Given the description of an element on the screen output the (x, y) to click on. 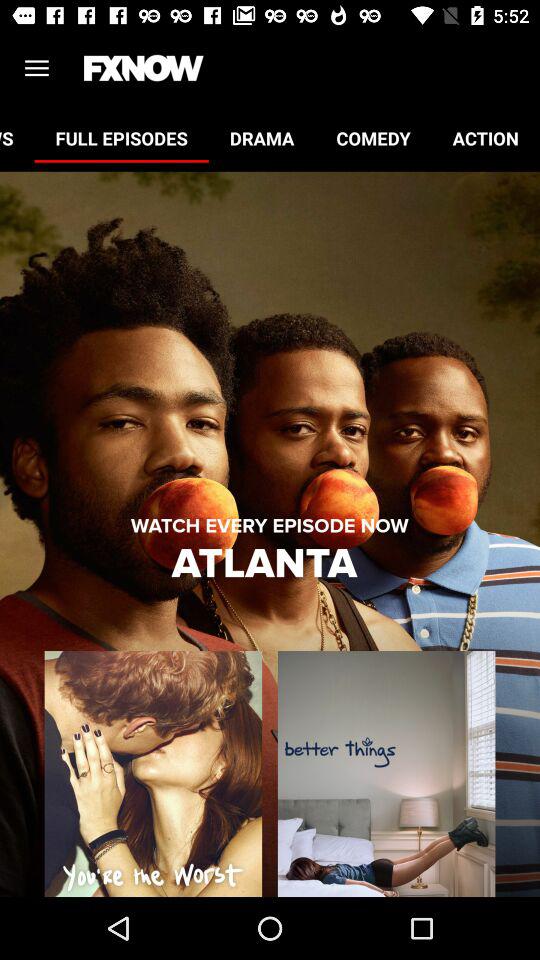
choose the watch every episode item (269, 526)
